Given the description of an element on the screen output the (x, y) to click on. 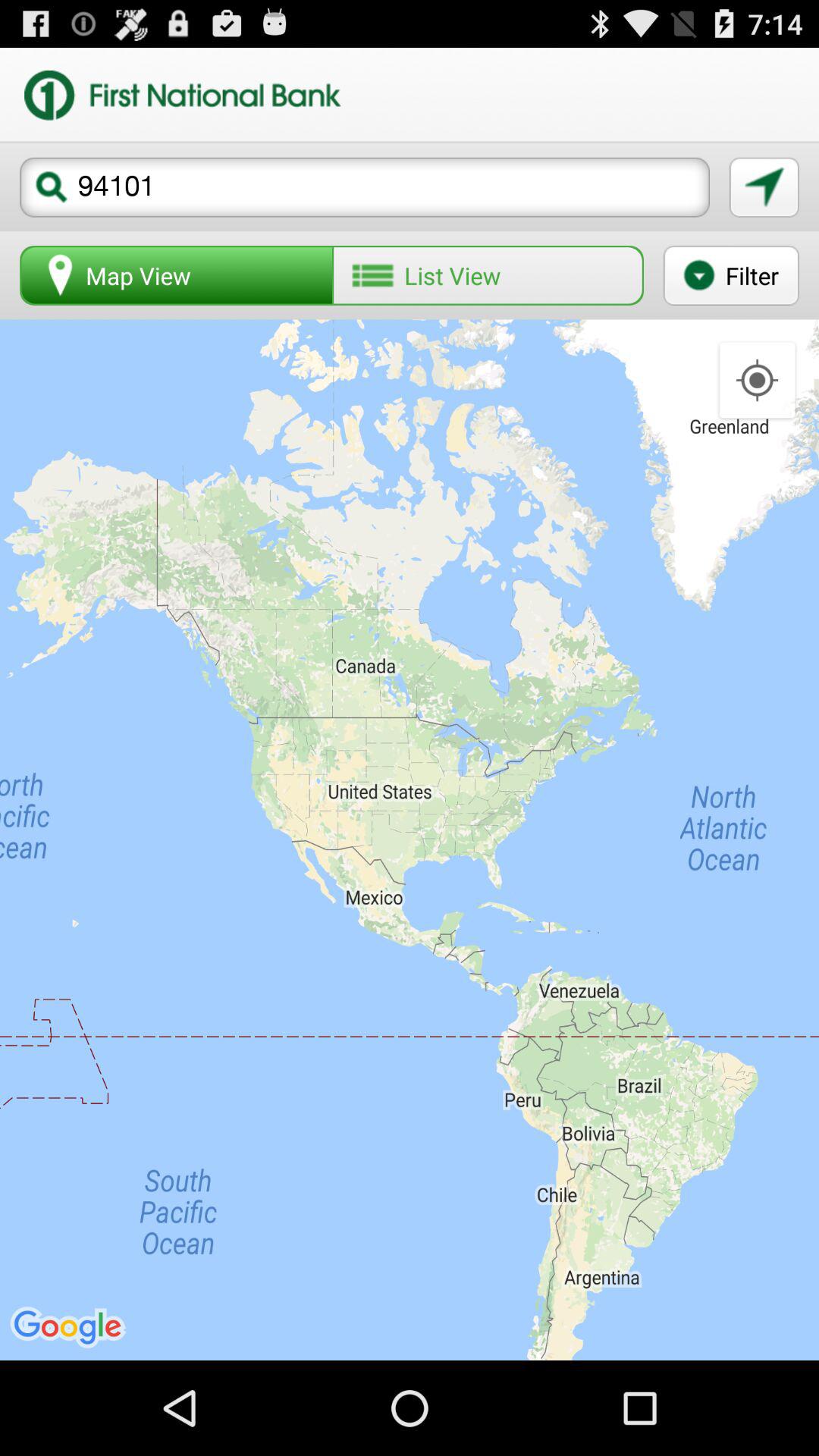
choose 94101 (364, 187)
